Given the description of an element on the screen output the (x, y) to click on. 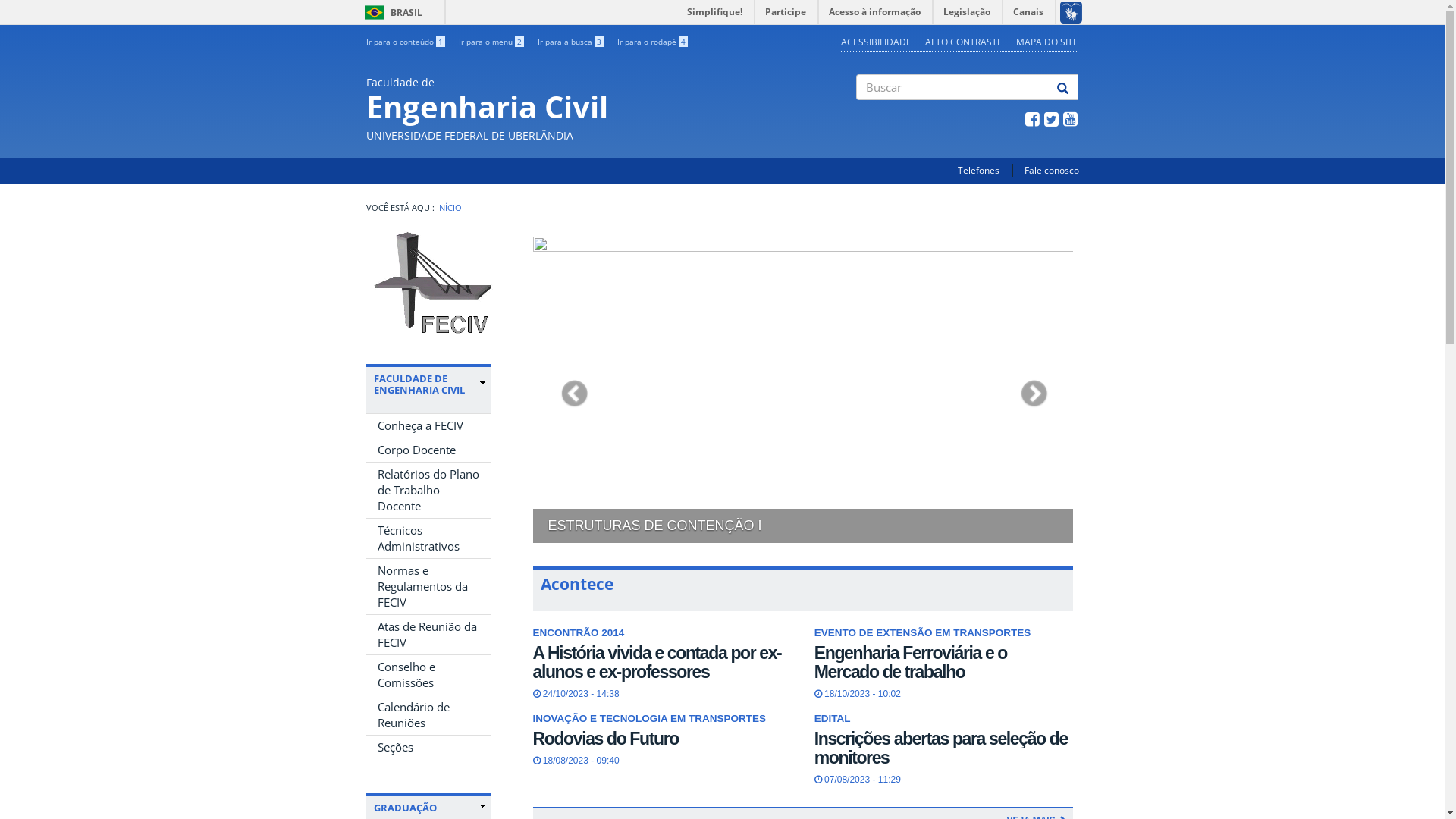
Rodovias do Futuro Element type: text (604, 738)
Previous Element type: text (572, 389)
ALTO CONTRASTE Element type: text (963, 41)
Corpo Docente Element type: text (427, 449)
Telefones Element type: text (977, 169)
BRASIL Element type: text (373, 12)
Buscar Element type: text (856, 112)
Next Element type: text (1032, 389)
ACESSIBILIDADE Element type: text (875, 41)
Ir para a busca 3 Element type: text (569, 41)
MAPA DO SITE Element type: text (1047, 41)
Normas e Regulamentos da FECIV Element type: text (427, 586)
Fale conosco Element type: text (1050, 169)
Ir para o menu 2 Element type: text (490, 41)
FACULDADE DE ENGENHARIA CIVIL Element type: text (428, 384)
